Given the description of an element on the screen output the (x, y) to click on. 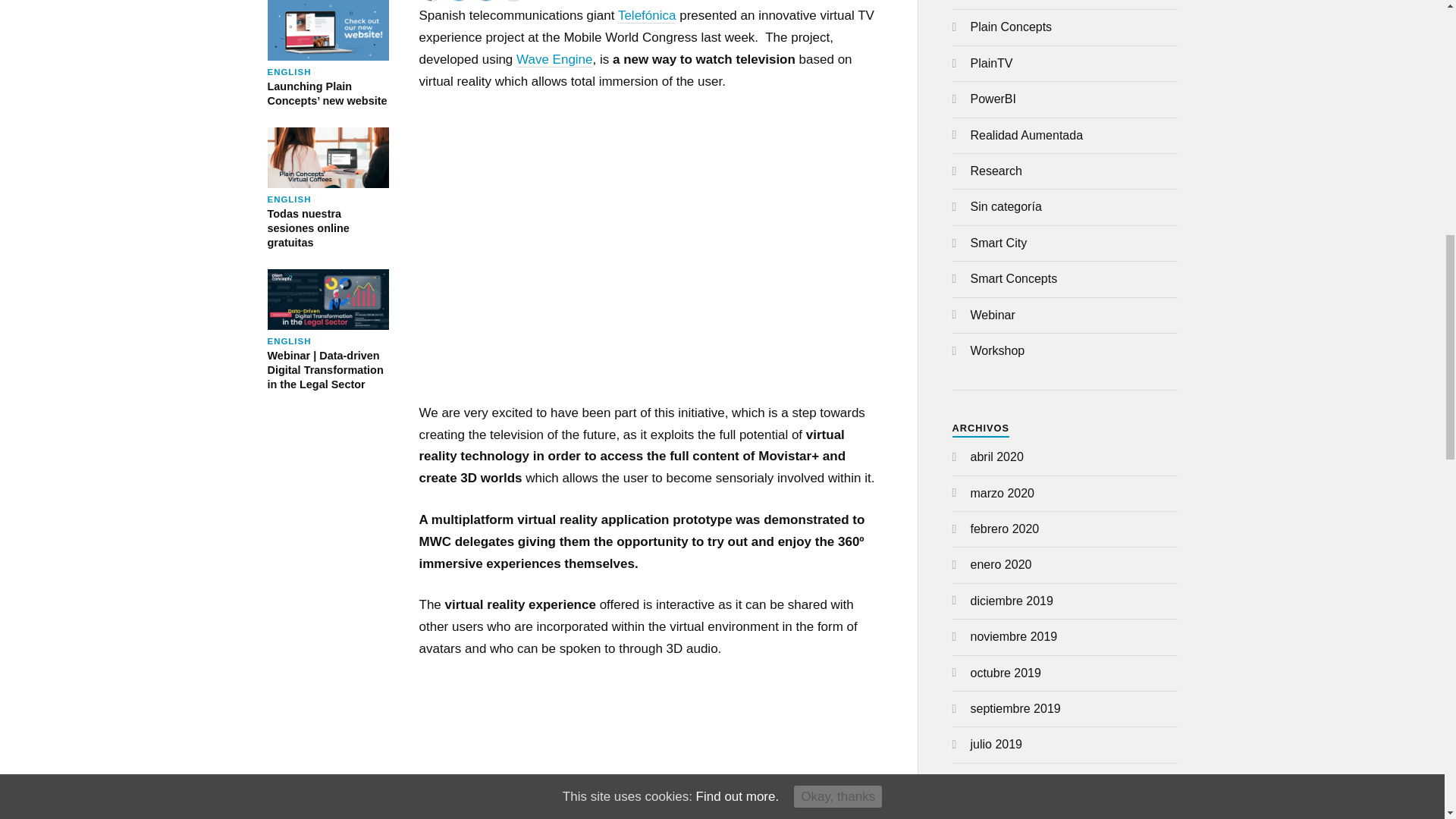
Wave Engine (554, 59)
Share to Twitter (457, 0)
Email this article (512, 0)
Todas nuestra sesiones online gratuitas (327, 188)
Share to Facebook (430, 0)
Share to LinkedIn (327, 188)
